Given the description of an element on the screen output the (x, y) to click on. 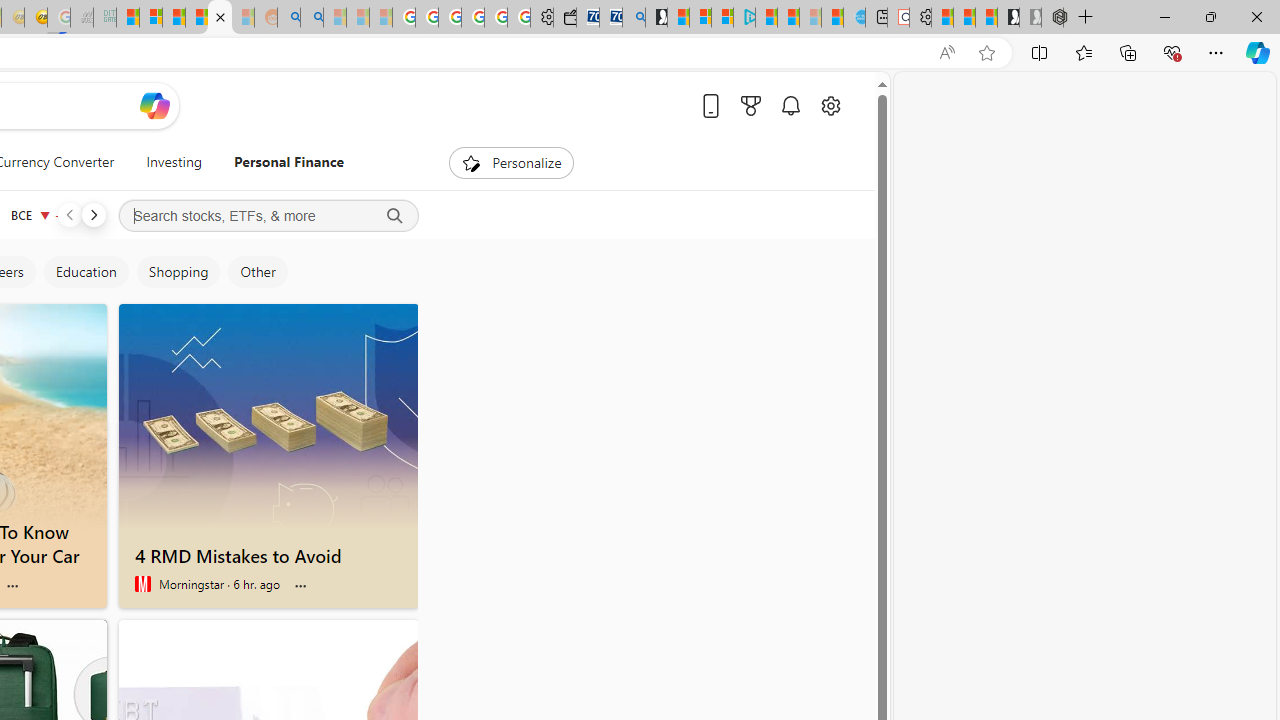
Investing (174, 162)
Search stocks, ETFs, & more (267, 215)
Personal Finance (281, 162)
